Given the description of an element on the screen output the (x, y) to click on. 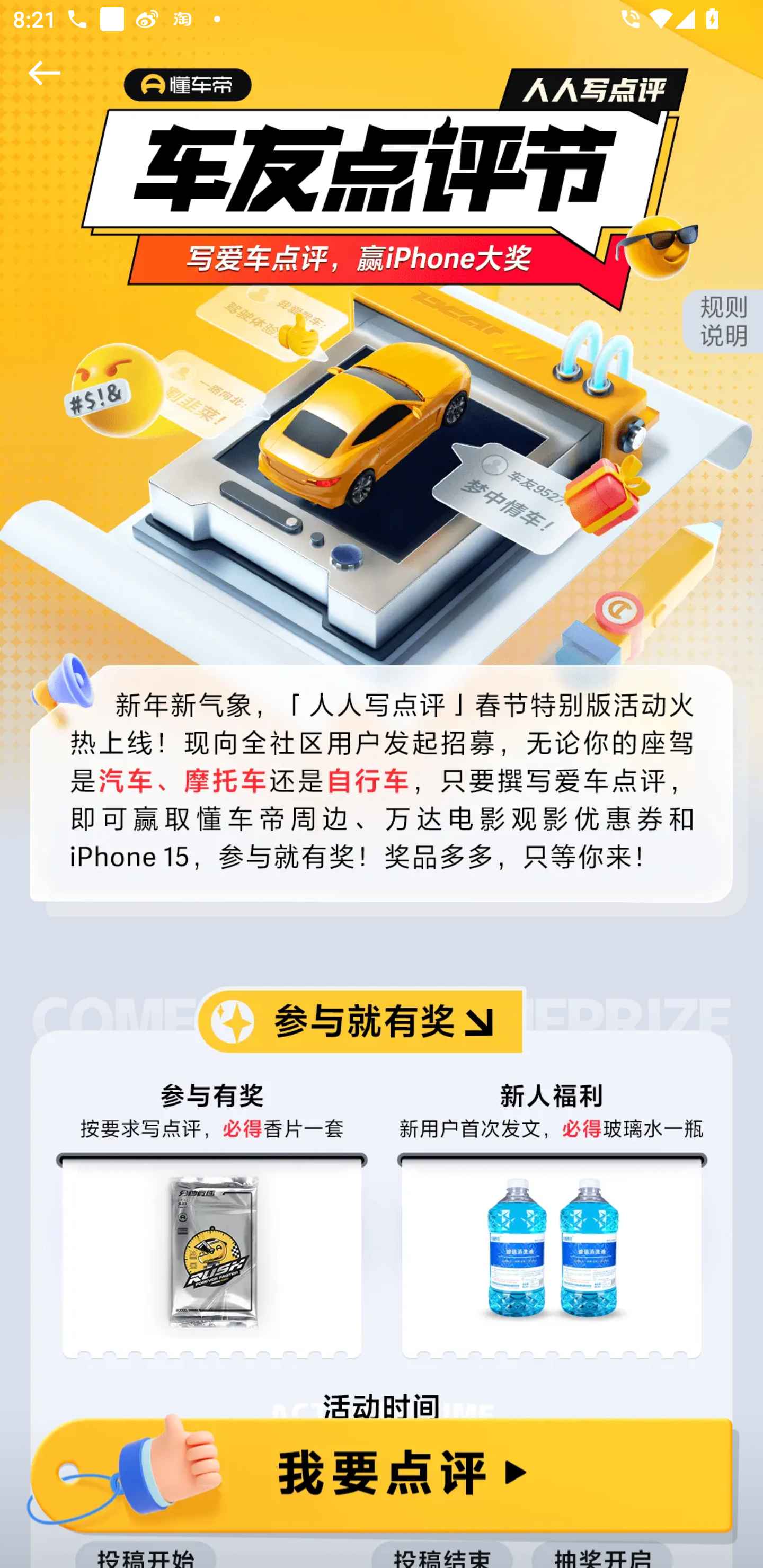
 (41, 72)
